Given the description of an element on the screen output the (x, y) to click on. 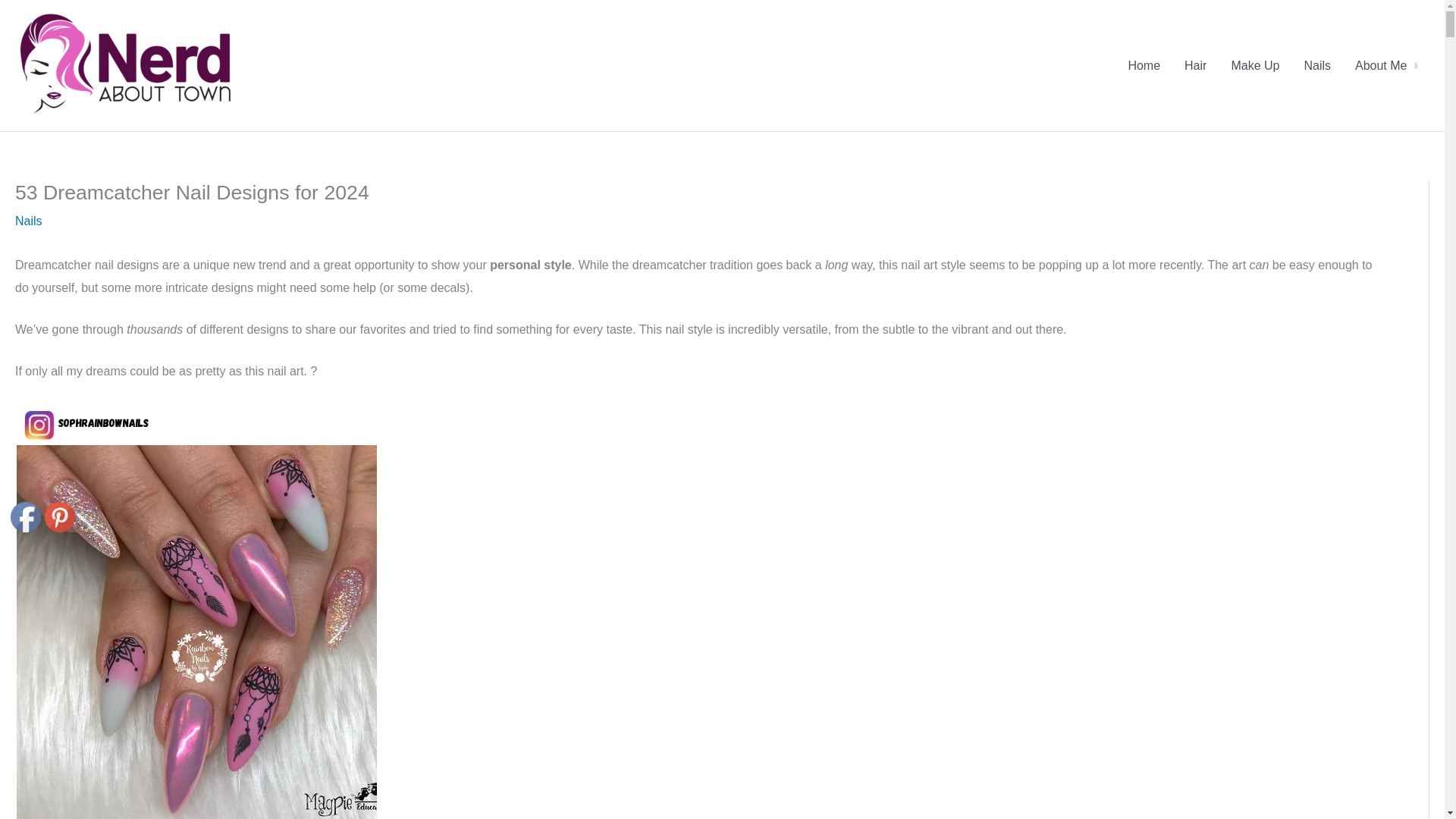
Pinterest (60, 517)
Nails (28, 220)
Facebook (25, 517)
